Given the description of an element on the screen output the (x, y) to click on. 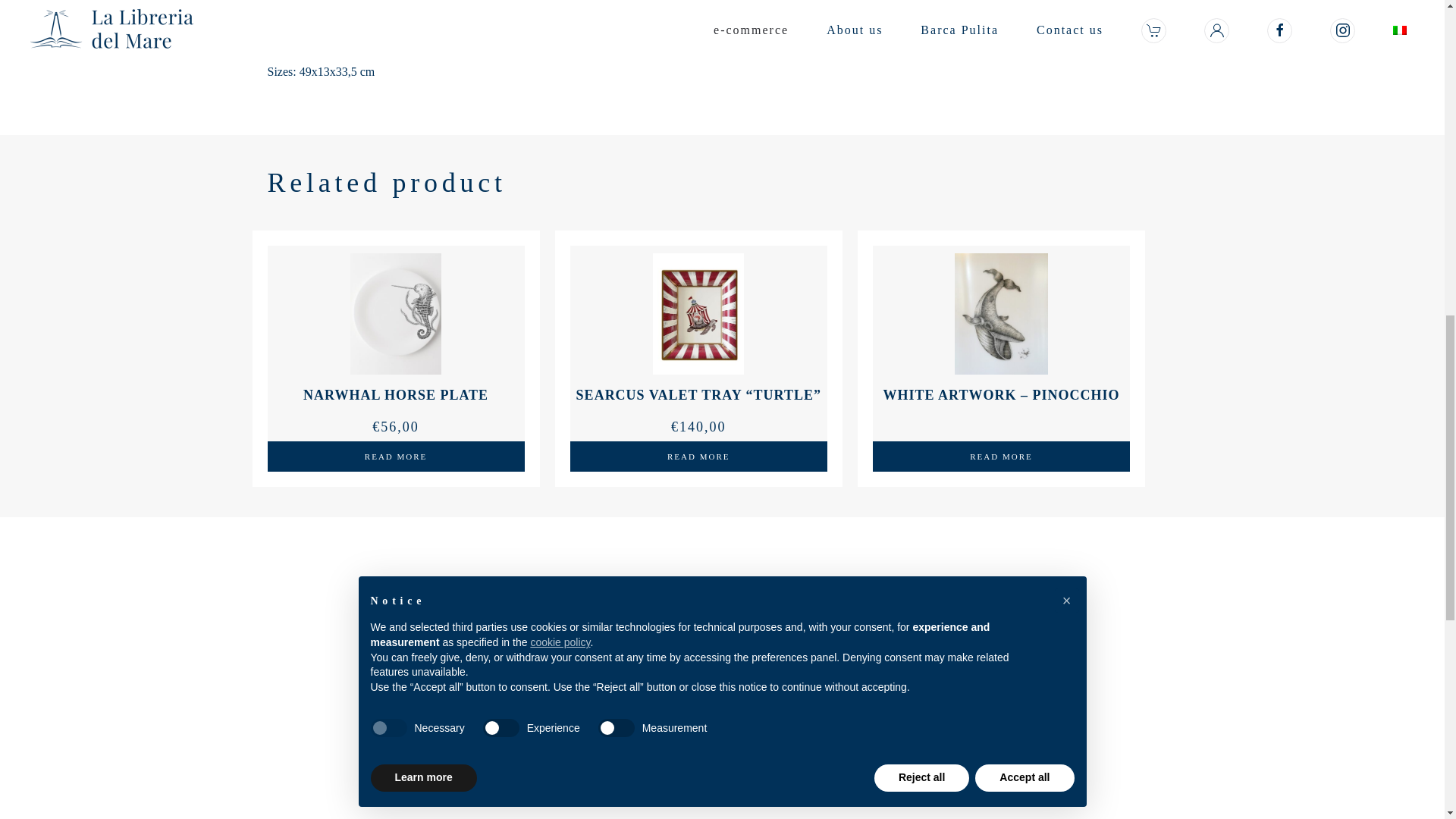
READ MORE (698, 456)
READ MORE (1000, 456)
READ MORE (395, 456)
